Given the description of an element on the screen output the (x, y) to click on. 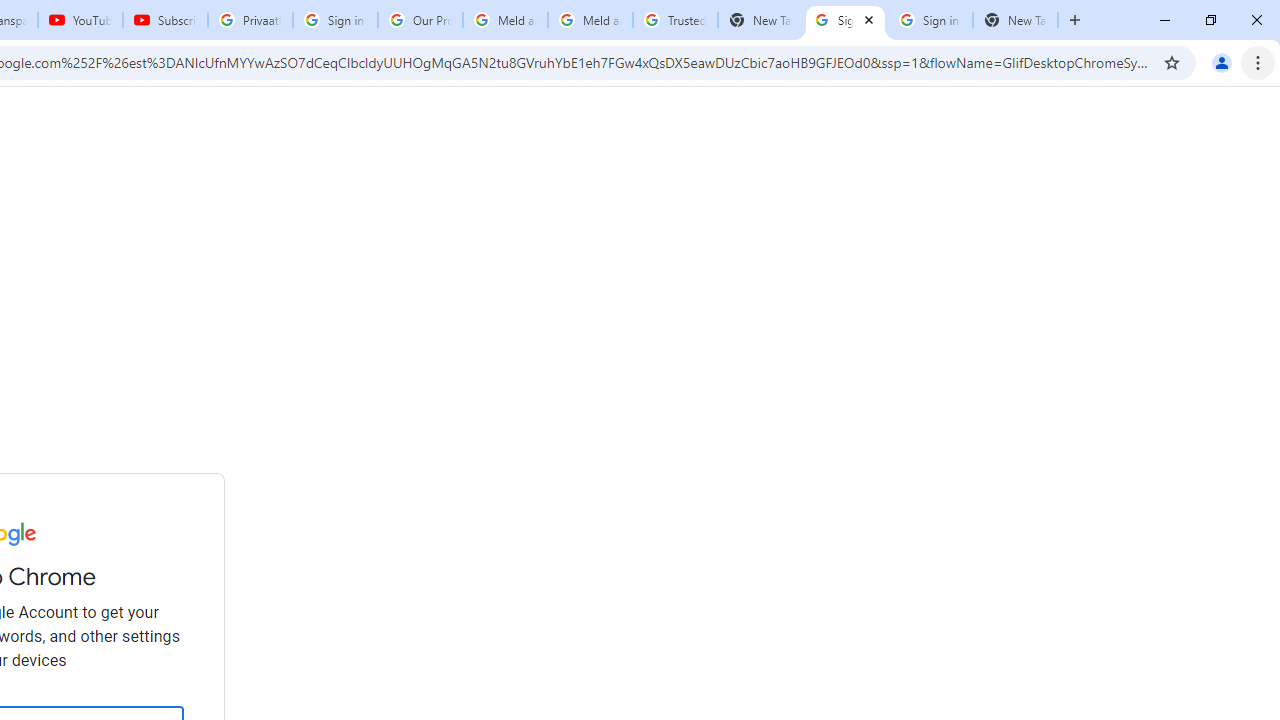
Subscriptions - YouTube (165, 20)
Trusted Information and Content - Google Safety Center (675, 20)
YouTube (80, 20)
